Given the description of an element on the screen output the (x, y) to click on. 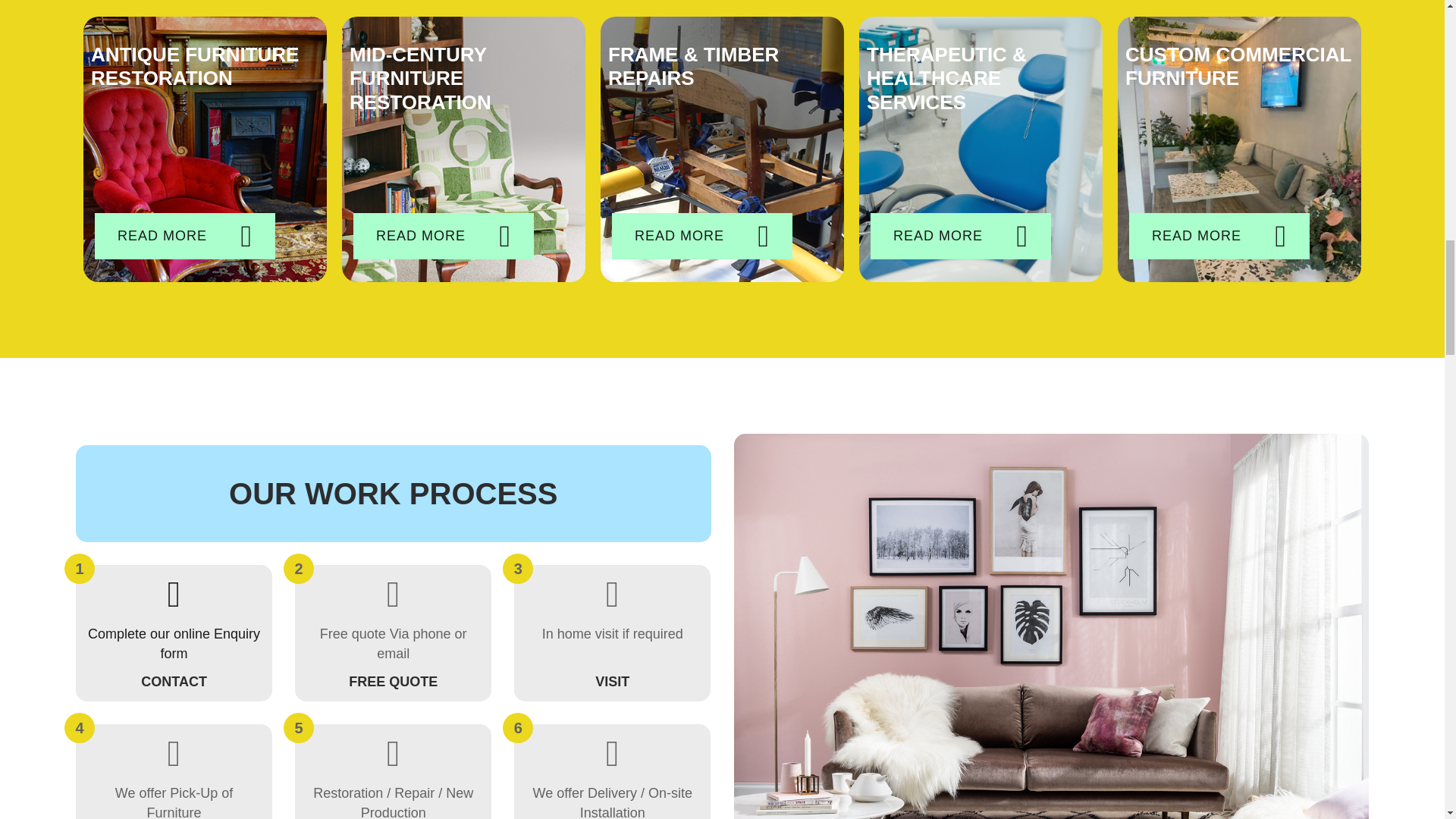
READ MORE (1218, 235)
READ MORE (184, 235)
READ MORE (173, 633)
READ MORE (960, 235)
READ MORE (701, 235)
